Given the description of an element on the screen output the (x, y) to click on. 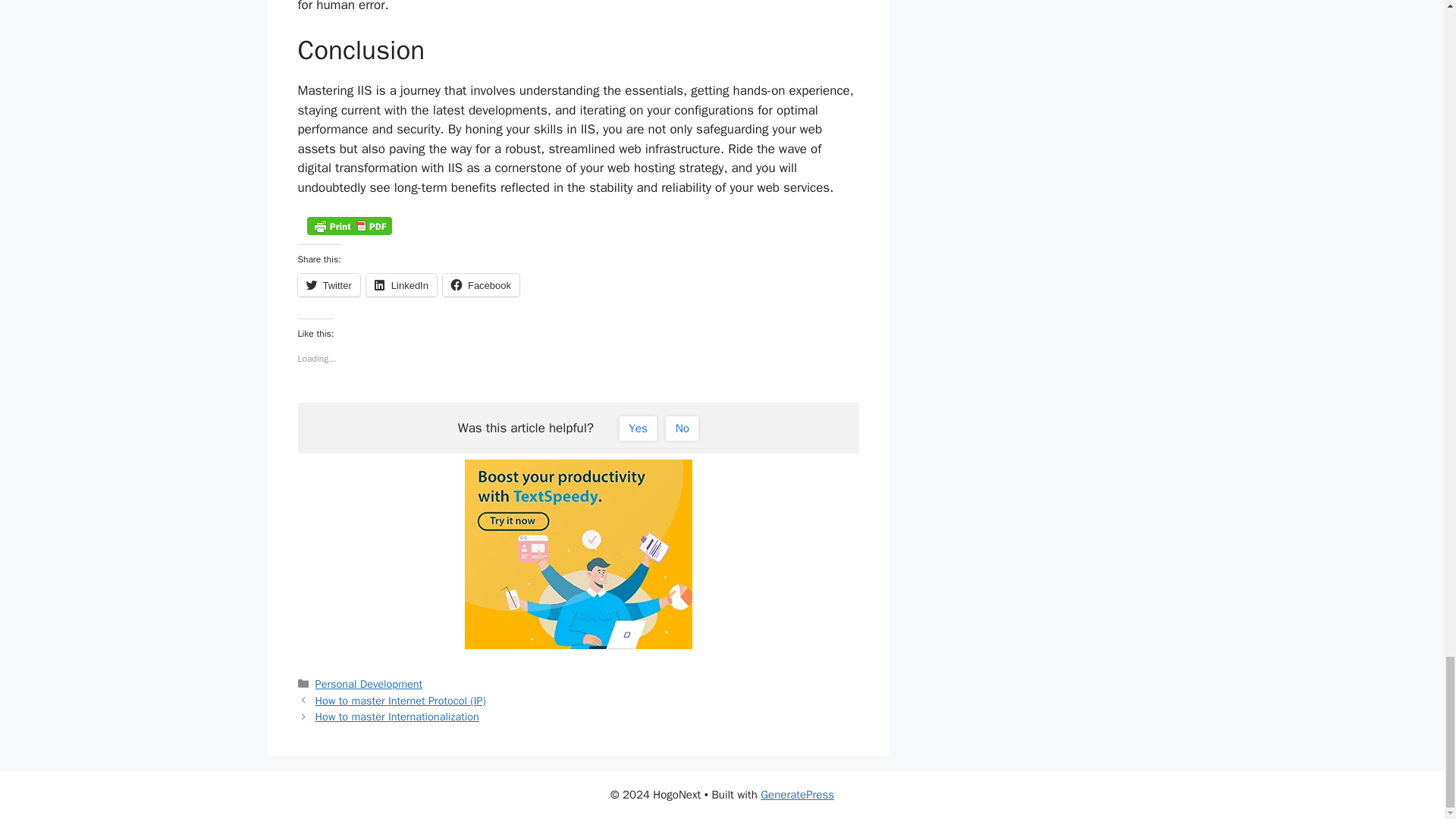
How to master Internationalization (397, 716)
Click to share on LinkedIn (401, 284)
LinkedIn (401, 284)
Click to share on Twitter (328, 284)
Facebook (480, 284)
Click to share on Facebook (480, 284)
Twitter (328, 284)
Personal Development (369, 684)
